Given the description of an element on the screen output the (x, y) to click on. 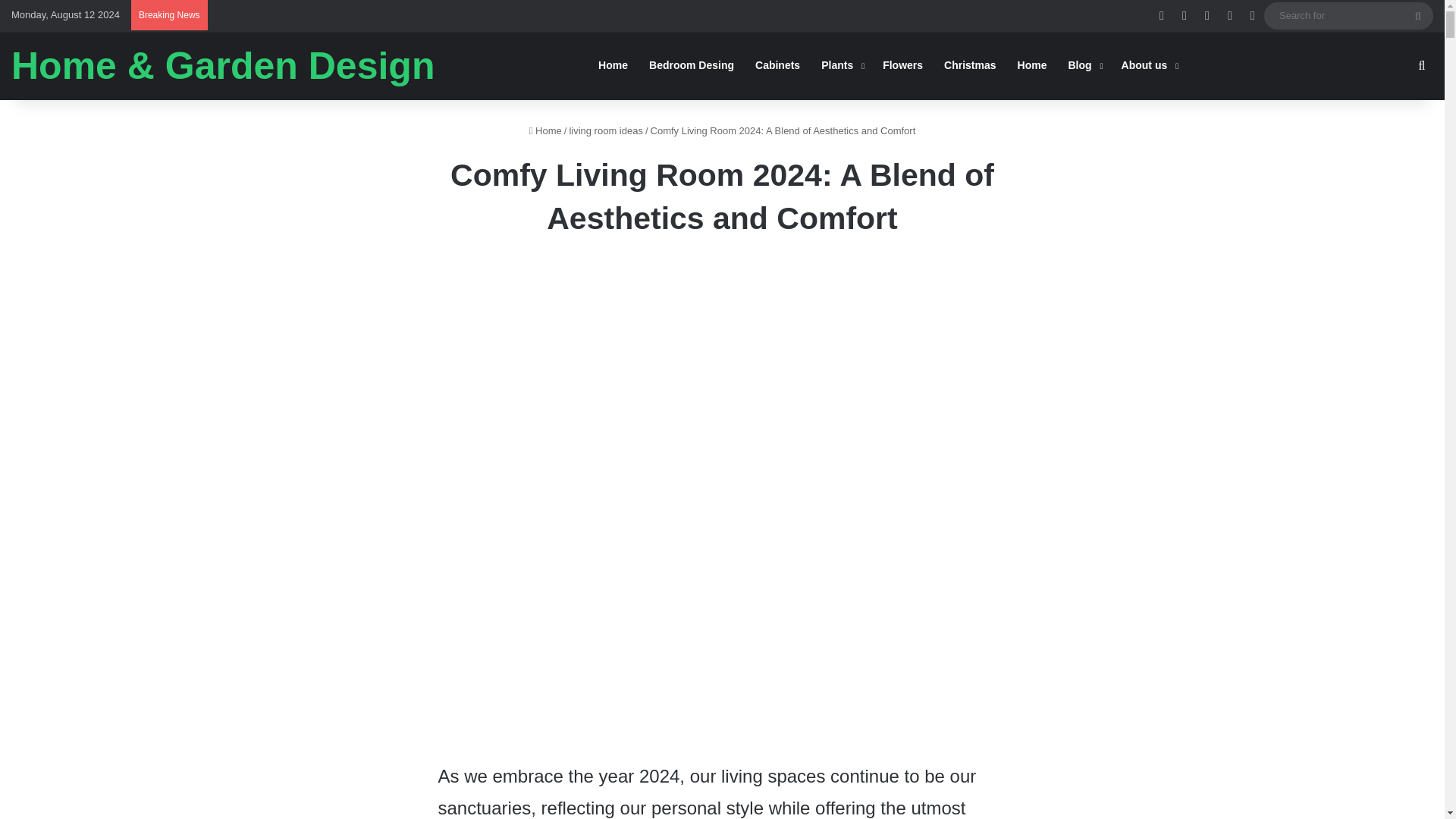
About us (1148, 65)
Search for (1417, 15)
living room ideas (606, 130)
Plants (841, 65)
Christmas (969, 65)
Search for (1347, 15)
Flowers (902, 65)
Home (545, 130)
Cabinets (777, 65)
Bedroom Desing (691, 65)
